Given the description of an element on the screen output the (x, y) to click on. 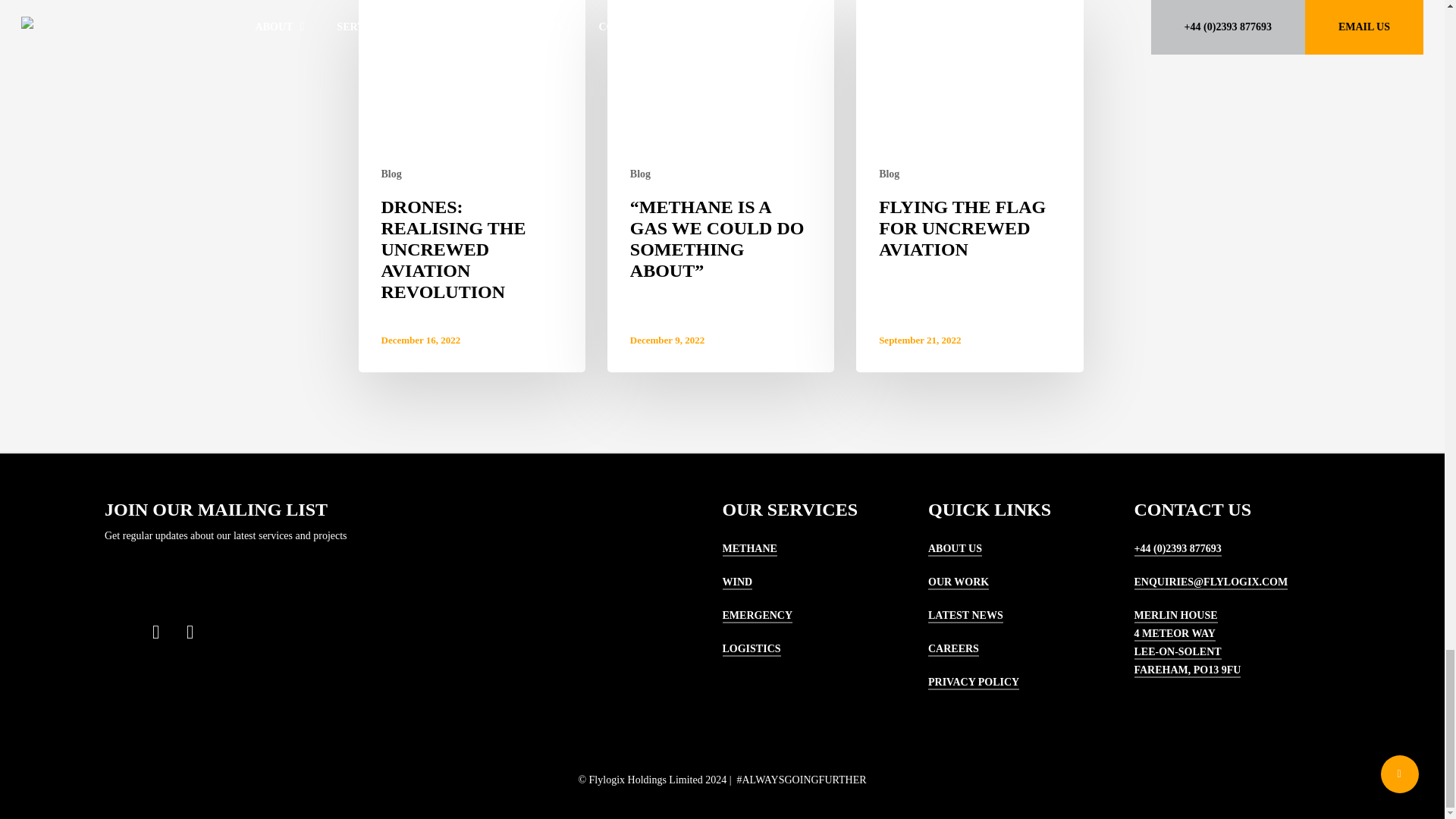
Blog (390, 173)
Blog (889, 173)
Blog (640, 173)
